Given the description of an element on the screen output the (x, y) to click on. 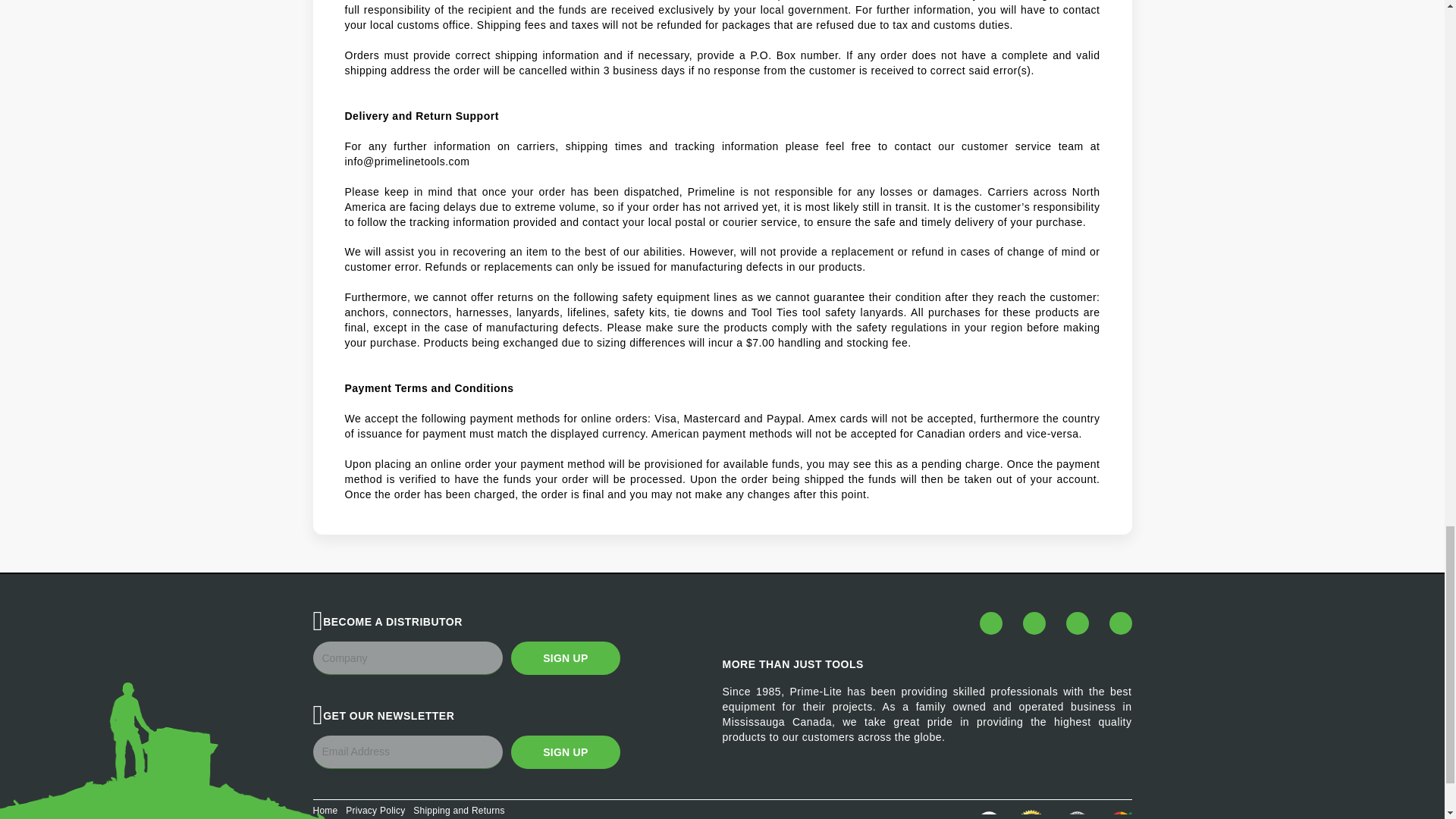
Sign Up (565, 657)
Sign up (565, 752)
